Given the description of an element on the screen output the (x, y) to click on. 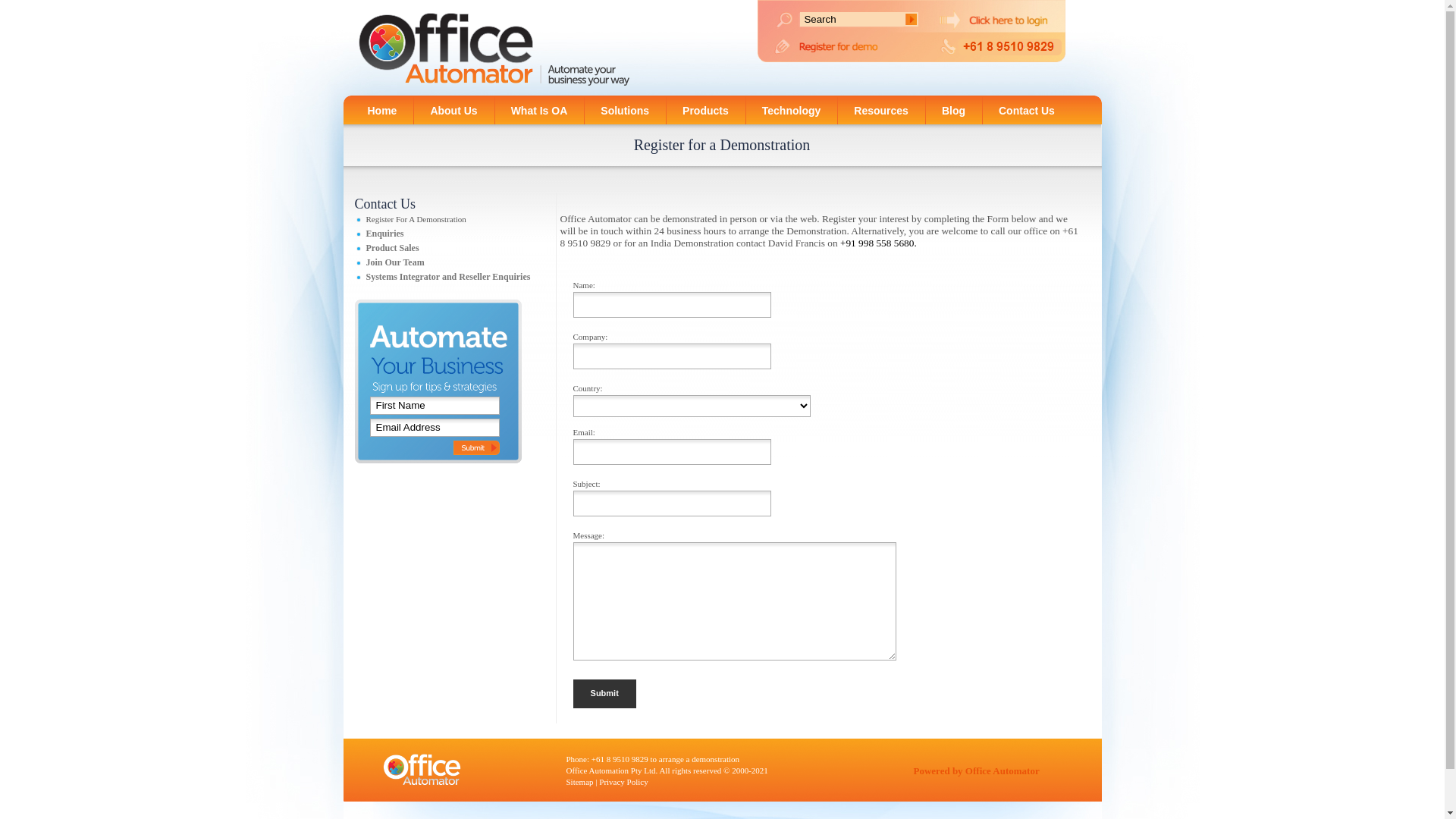
Sitemap Element type: text (579, 781)
Home Element type: text (381, 109)
Contact Us Element type: text (1026, 109)
 Submit  Element type: text (604, 693)
Enquiries Element type: text (384, 233)
Register for demo Element type: text (846, 45)
What Is OA Element type: text (539, 109)
Join Our Team Element type: text (394, 262)
Click here to login Element type: text (1007, 17)
Product Sales Element type: text (391, 247)
Privacy Policy Element type: text (623, 781)
Solutions Element type: text (624, 109)
Resources Element type: text (881, 109)
Blog Element type: text (953, 109)
About Us Element type: text (453, 109)
Powered by Office Automator Element type: text (975, 770)
Technology Element type: text (791, 109)
Systems Integrator and Reseller Enquiries Element type: text (447, 276)
Products Element type: text (705, 109)
